Given the description of an element on the screen output the (x, y) to click on. 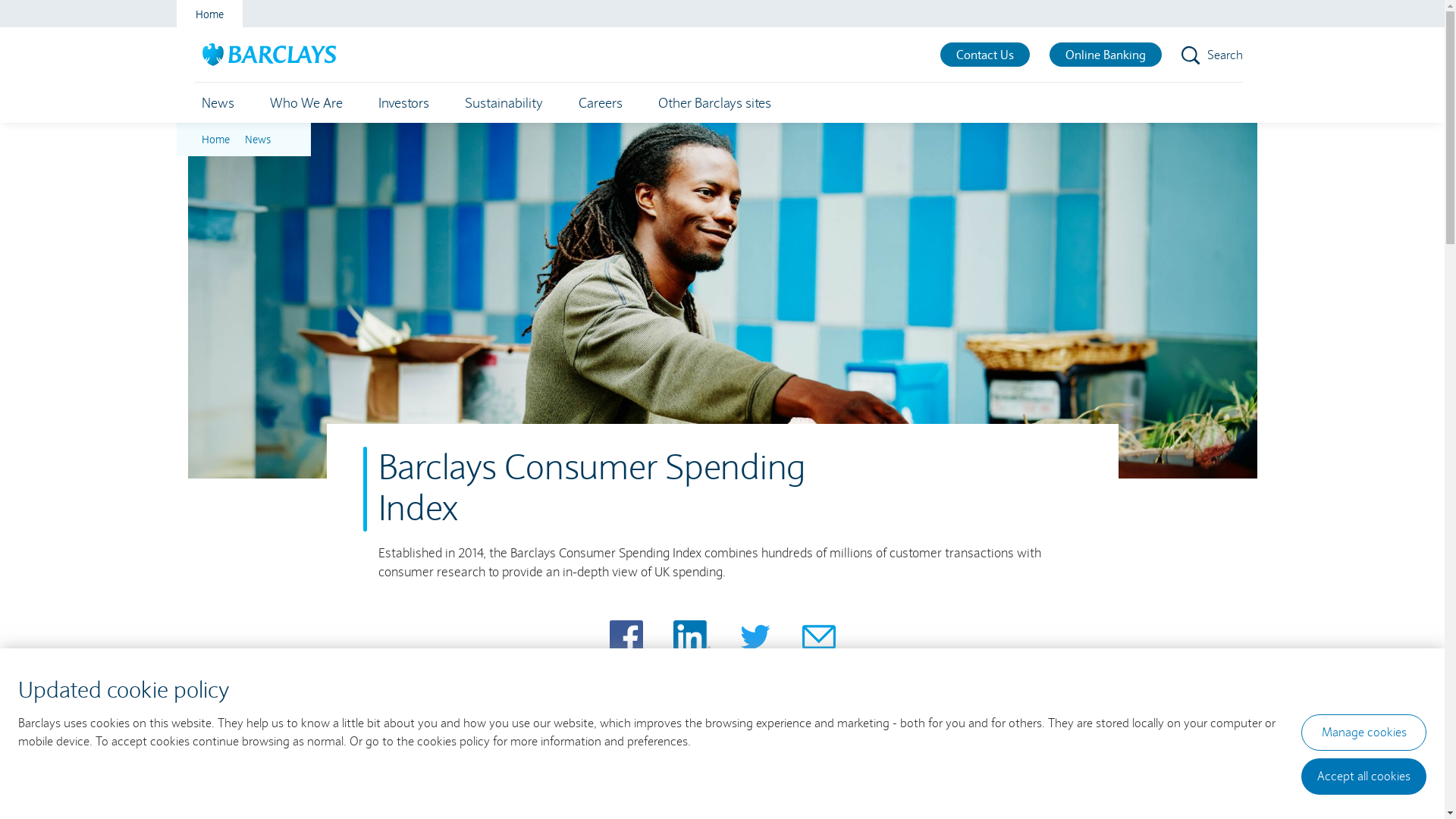
Online Banking Element type: text (1105, 54)
Home Element type: text (208, 14)
Sustainability Element type: text (502, 102)
Share page via Twitter Element type: hover (754, 636)
Other Barclays sites Element type: text (714, 102)
Share page via LinkedIn Element type: hover (692, 636)
News Element type: text (217, 102)
Search Element type: text (1211, 54)
Share page via Facebook Element type: hover (626, 636)
News Element type: text (256, 138)
Careers Element type: text (599, 102)
Share page via Email Element type: hover (818, 636)
Home Element type: text (215, 138)
Who We Are Element type: text (306, 102)
Investors Element type: text (403, 102)
Contact Us Element type: text (984, 54)
